Given the description of an element on the screen output the (x, y) to click on. 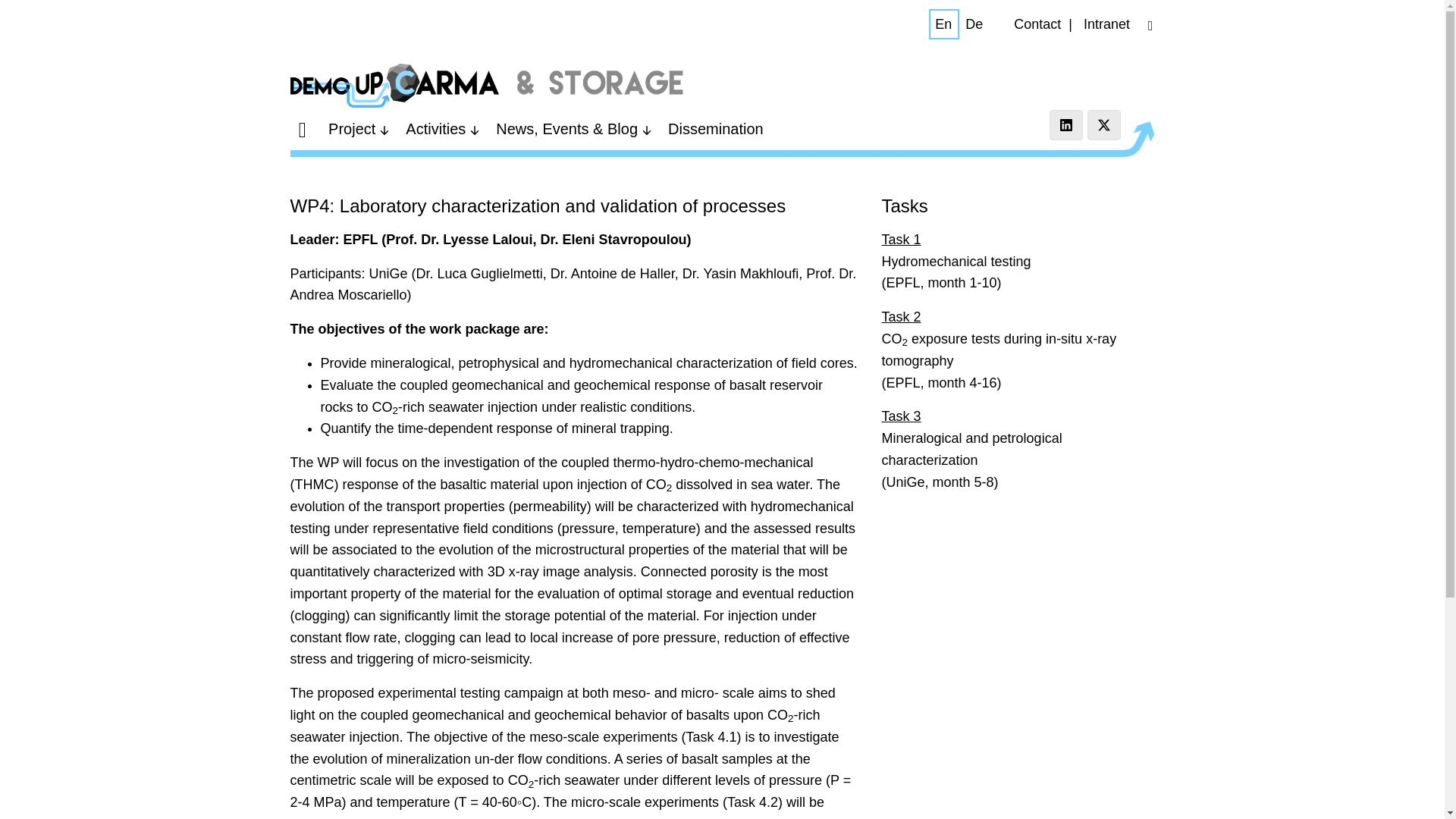
Homepage (486, 84)
Contact (1037, 23)
Contact (1037, 23)
Deutsch (974, 24)
Intranet (1106, 23)
English (943, 24)
linkedin (1066, 124)
Intranet (1106, 23)
Activities (443, 128)
De (974, 24)
Dissemination (716, 128)
twitter (1104, 124)
En (943, 24)
Project (359, 128)
